Given the description of an element on the screen output the (x, y) to click on. 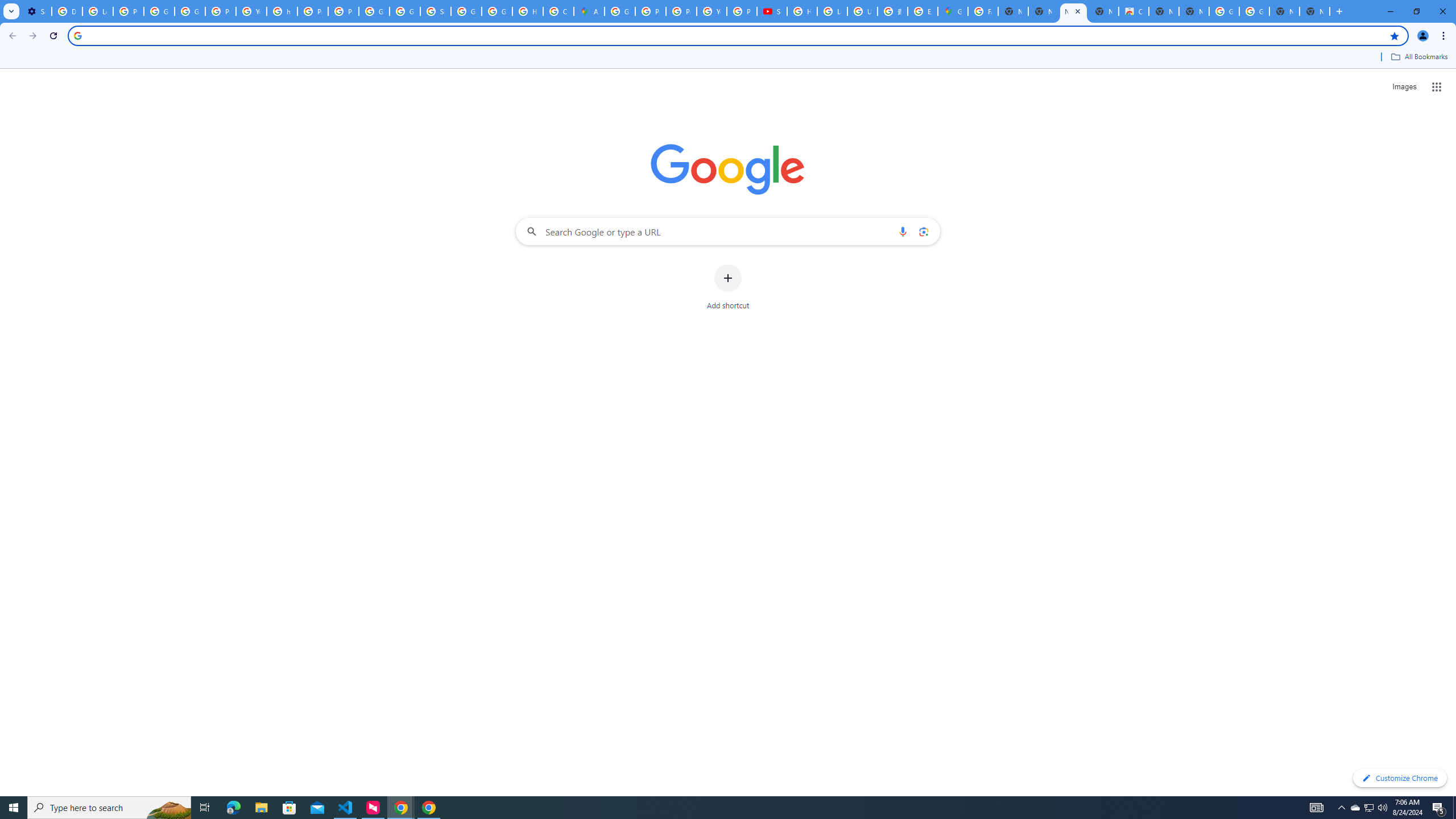
YouTube (251, 11)
Google Account Help (158, 11)
Google Maps (952, 11)
Settings - Performance (36, 11)
How Chrome protects your passwords - Google Chrome Help (801, 11)
Google Images (1224, 11)
